Given the description of an element on the screen output the (x, y) to click on. 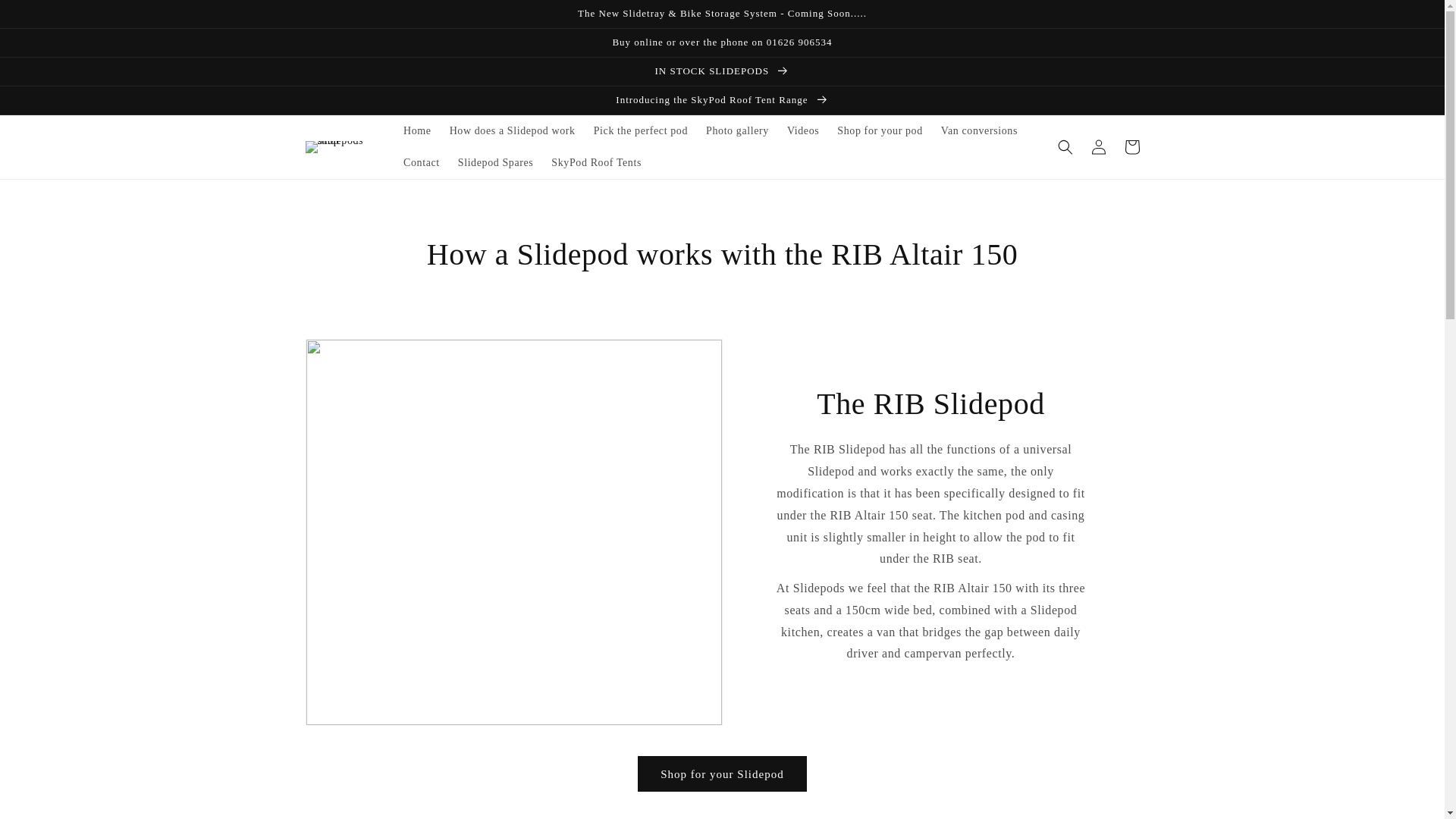
Shop for your pod (879, 131)
Videos (802, 131)
How does a Slidepod work (513, 131)
Van conversions (978, 131)
Photo gallery (737, 131)
Slidepod Spares (495, 163)
Skip to content (45, 17)
Shop for your Slidepod (721, 773)
Contact (421, 163)
Home (417, 131)
Log in (1098, 146)
Cart (1131, 146)
SkyPod Roof Tents (595, 163)
Pick the perfect pod (641, 131)
